Given the description of an element on the screen output the (x, y) to click on. 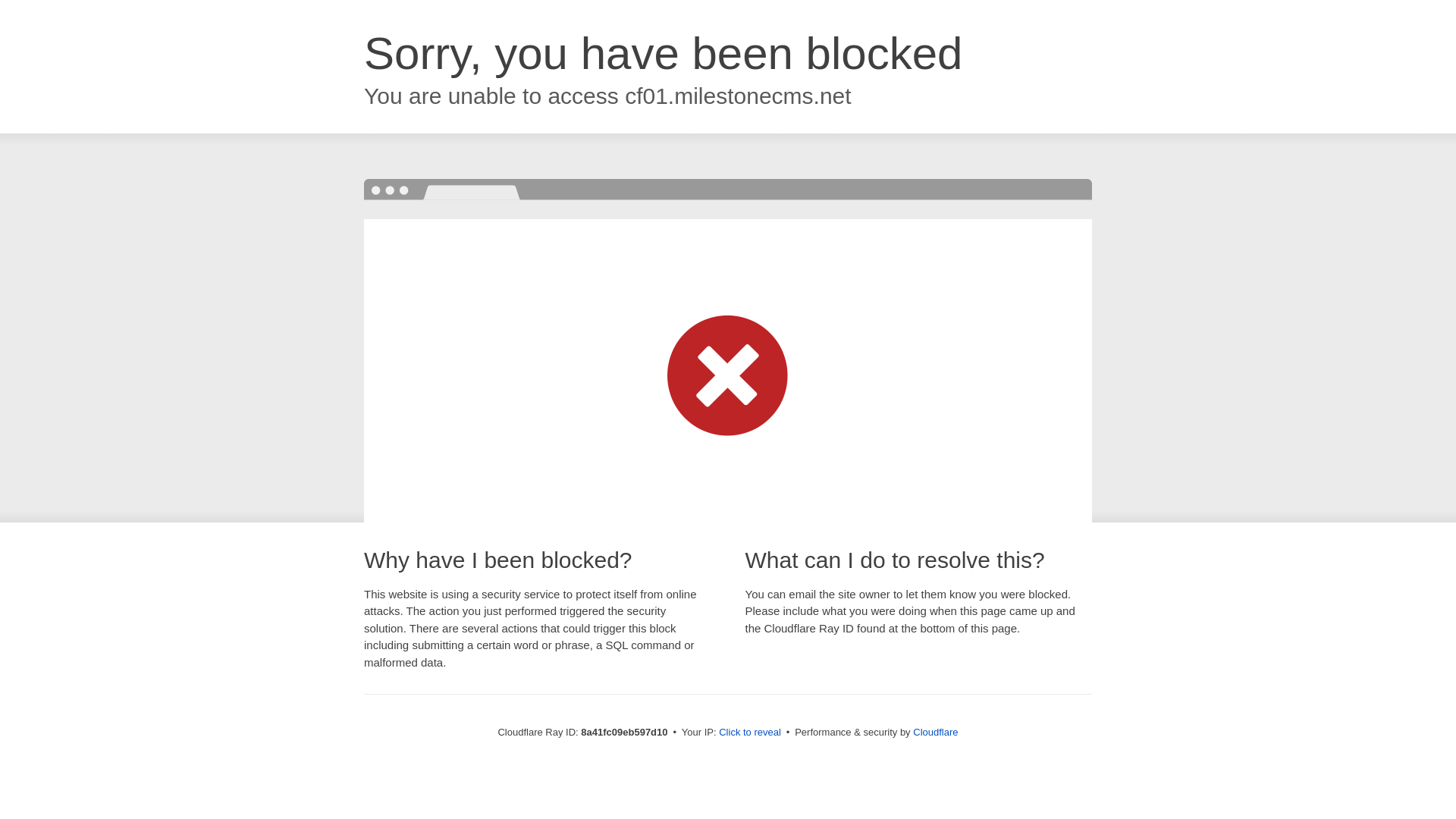
Cloudflare (935, 731)
Click to reveal (749, 732)
